Given the description of an element on the screen output the (x, y) to click on. 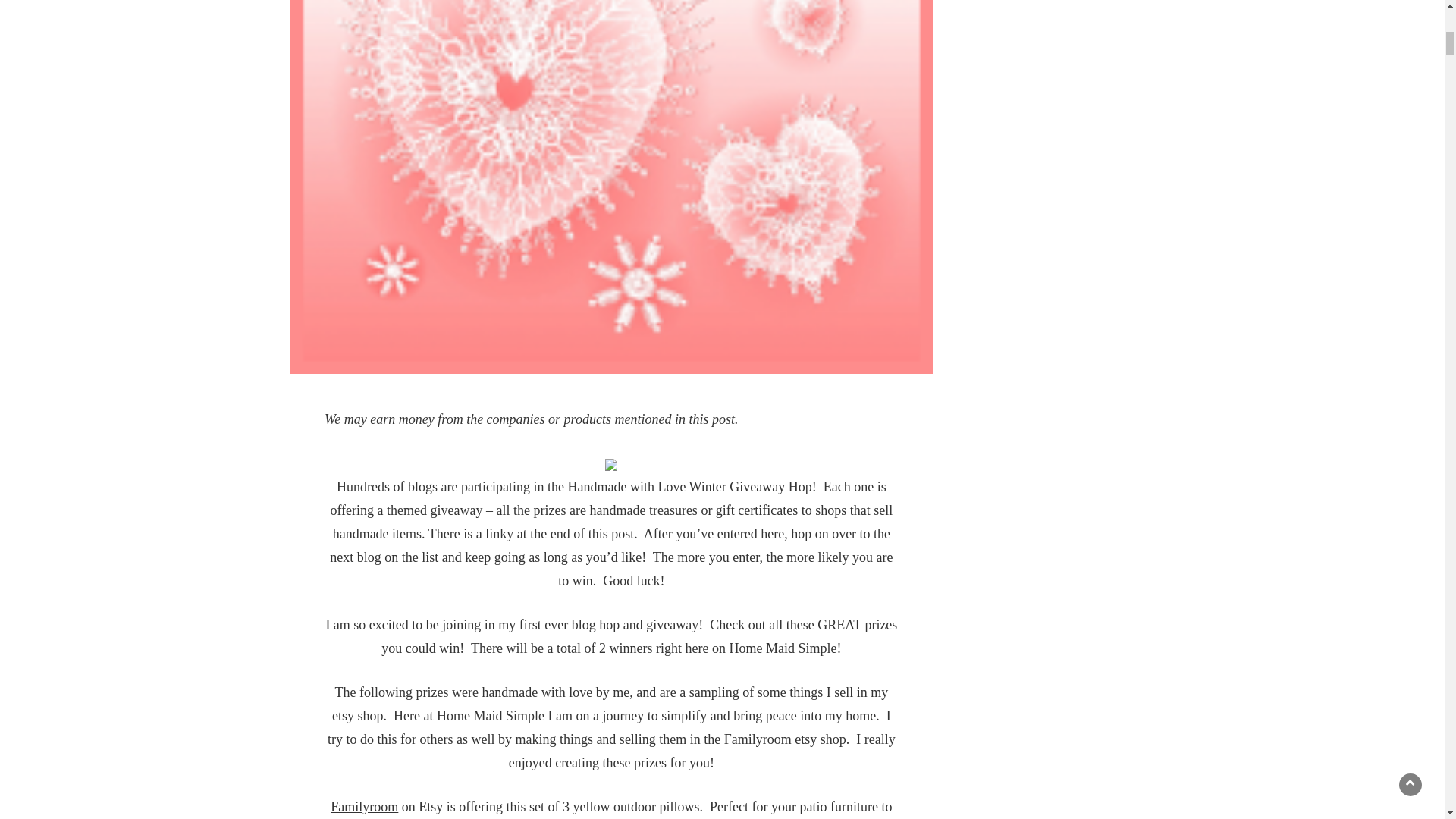
Familyroom (363, 806)
